Given the description of an element on the screen output the (x, y) to click on. 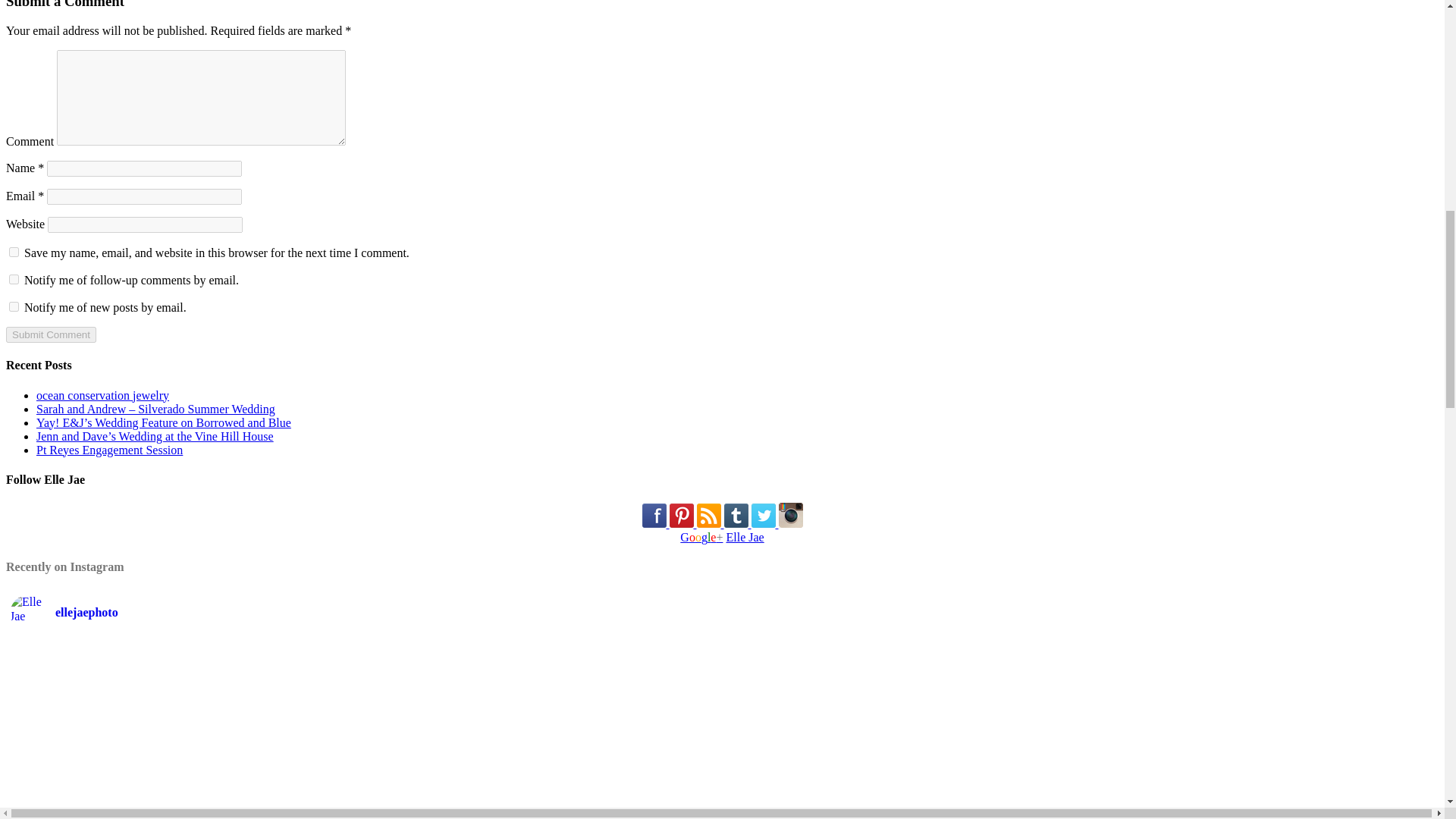
Submit Comment (50, 334)
Elle Jae Wedding Photography on Instagram (789, 514)
yes (13, 252)
subscribe (13, 307)
Elle Jae Wedding Photography on Pinterest (680, 515)
Elle Jae Wedding Photography on Twitter (762, 515)
Elle Jae Wedding Photography on Facebook (653, 515)
subscribe (13, 279)
RSS feed for Elle Jae Weddings (707, 515)
Elle Jae Wedding Photography on Tumblr (735, 515)
